Given the description of an element on the screen output the (x, y) to click on. 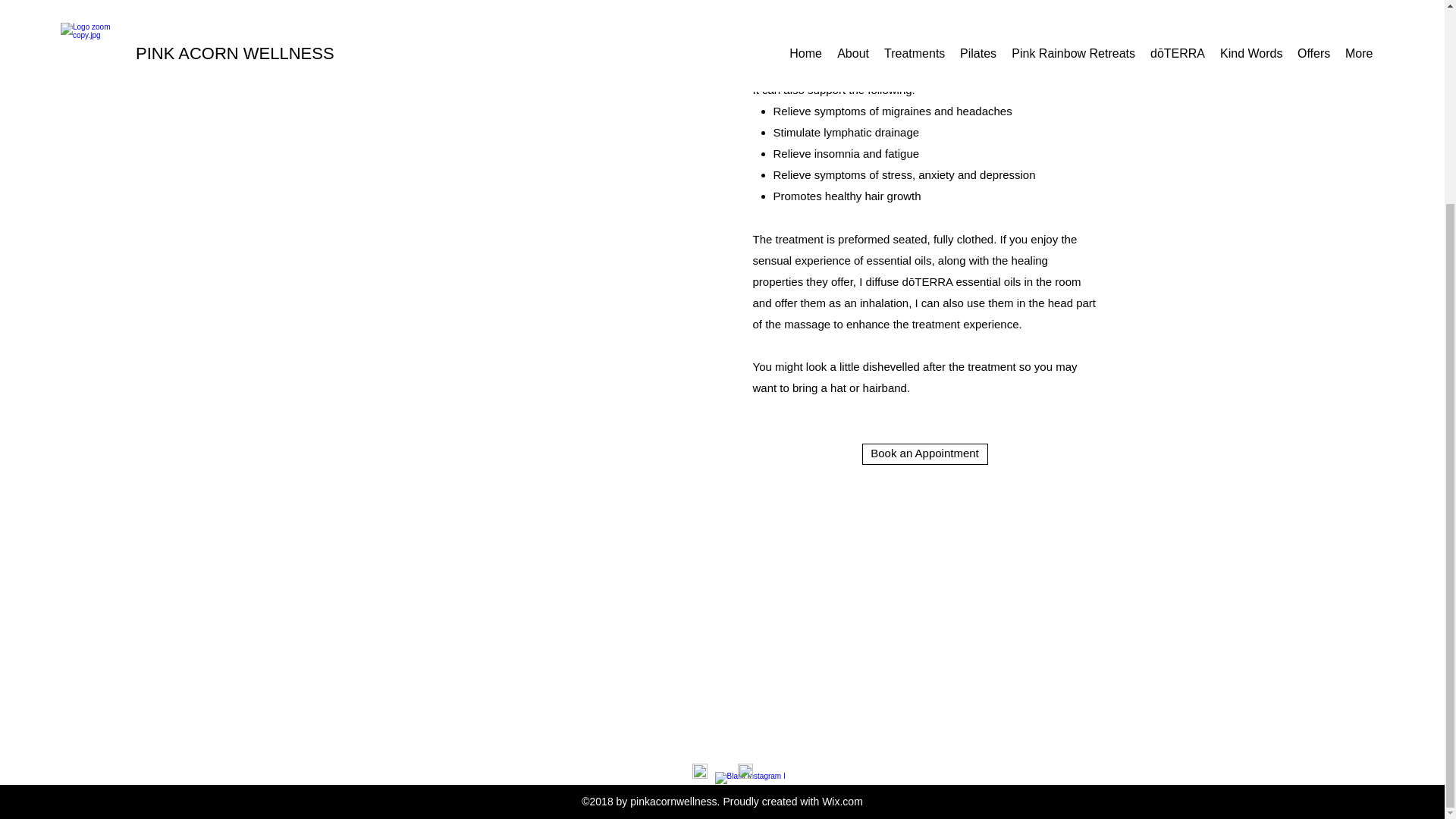
Book an Appointment (924, 454)
